Given the description of an element on the screen output the (x, y) to click on. 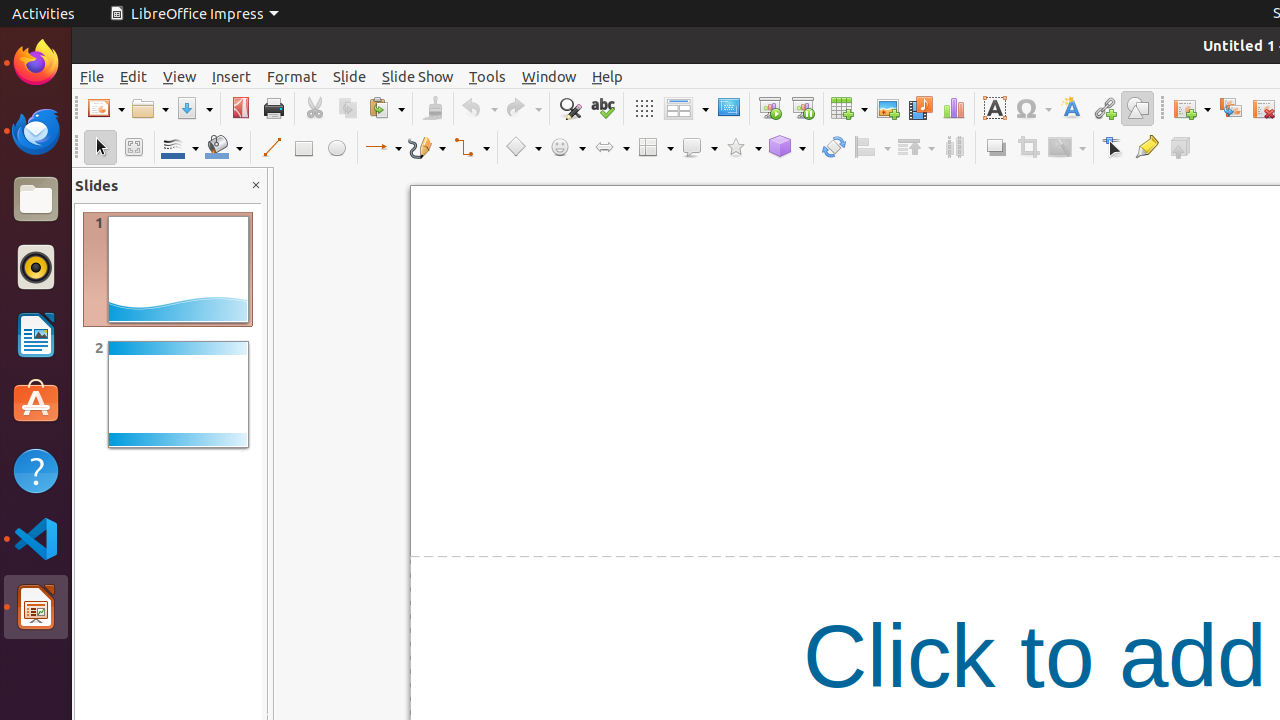
Edit Points Element type: push-button (1113, 147)
Files Element type: push-button (36, 199)
New Element type: push-button (106, 108)
Draw Functions Element type: toggle-button (1137, 108)
